Given the description of an element on the screen output the (x, y) to click on. 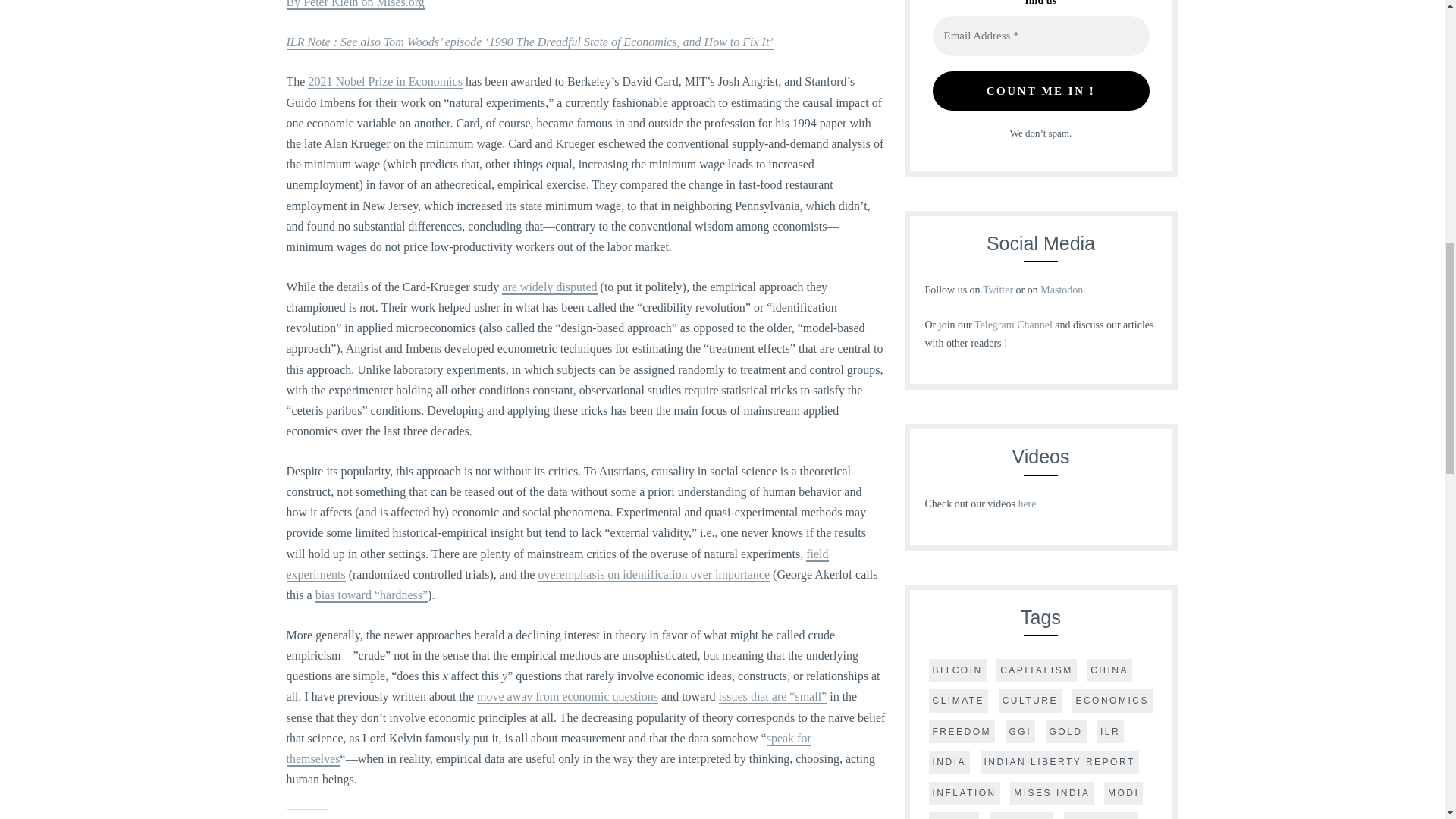
speak for themselves (548, 749)
move away from economic questions (567, 697)
Count me in ! (1041, 91)
2021 Nobel Prize in Economics (385, 82)
are widely disputed (549, 287)
overemphasis on identification over importance (653, 575)
field experiments (557, 564)
Email Address (1041, 35)
By Peter Klein on Mises.org (355, 4)
